Given the description of an element on the screen output the (x, y) to click on. 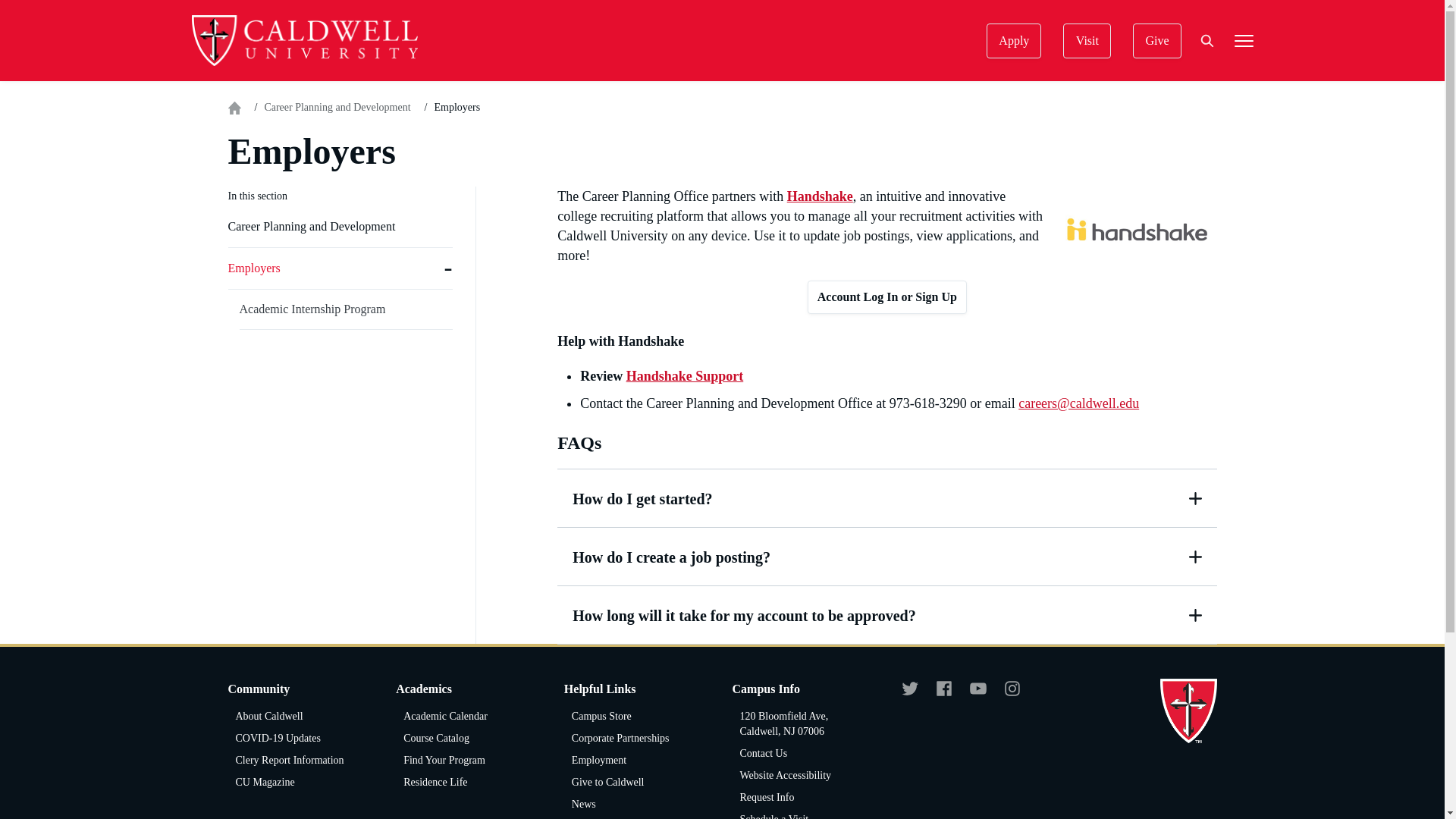
Visit (1086, 40)
Give (1156, 40)
footer logo image (1188, 710)
submit button (1025, 505)
instagram.com (1012, 695)
youtube.com (978, 695)
Skip to content (28, 27)
facebook.com (943, 695)
Apply (1014, 40)
twitter.com (909, 695)
menu (1243, 40)
